Given the description of an element on the screen output the (x, y) to click on. 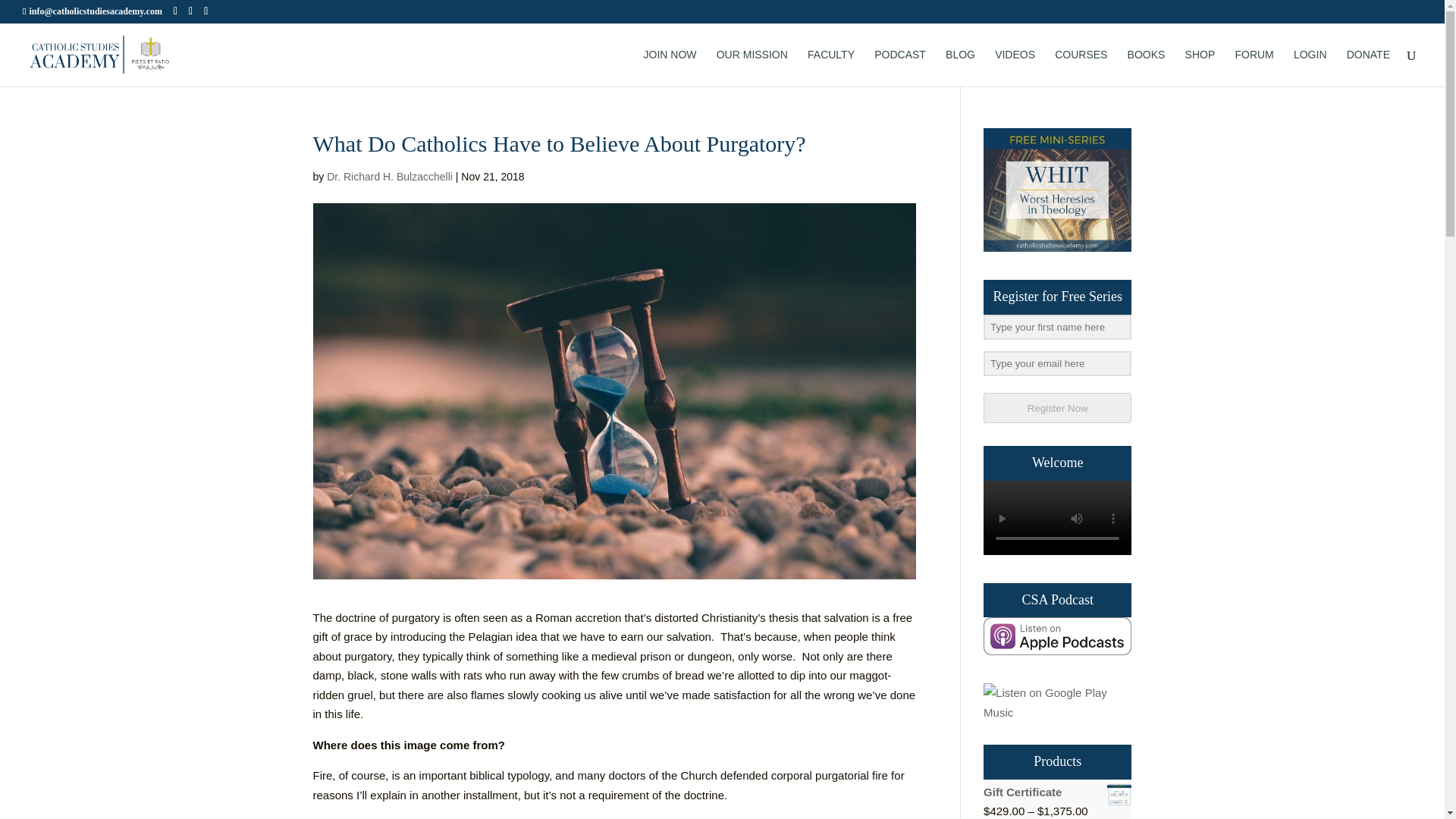
OUR MISSION (751, 67)
PODCAST (900, 67)
FORUM (1253, 67)
LOGIN (1310, 67)
COURSES (1080, 67)
DONATE (1368, 67)
Posts by Dr. Richard H. Bulzacchelli (389, 176)
Dr. Richard H. Bulzacchelli (389, 176)
JOIN NOW (670, 67)
VIDEOS (1014, 67)
FACULTY (831, 67)
BOOKS (1146, 67)
